Given the description of an element on the screen output the (x, y) to click on. 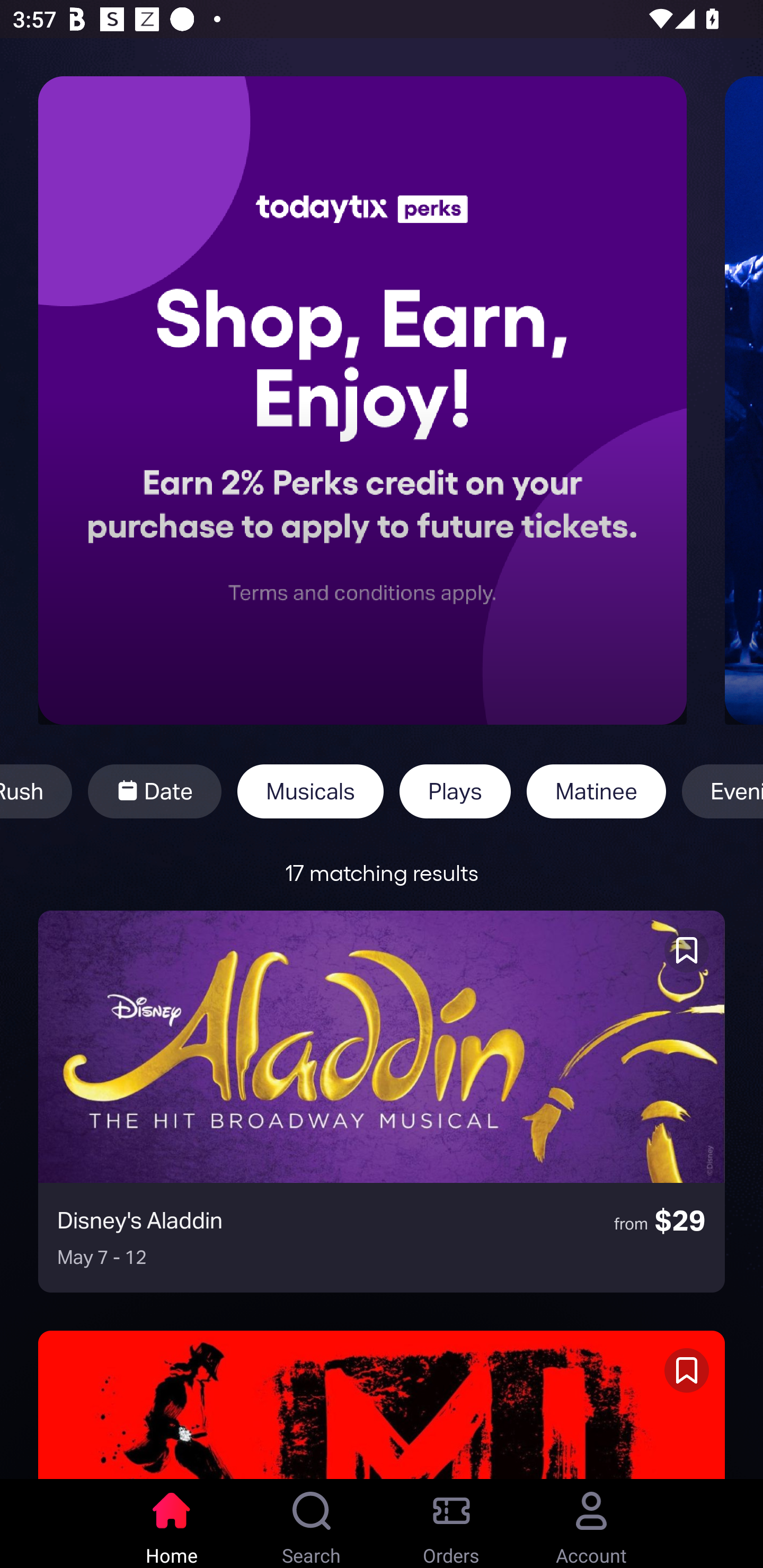
Date (154, 791)
Musicals (310, 791)
Plays (454, 791)
Matinee (596, 791)
Disney's Aladdin from $29 May 7 - 12 (381, 1101)
Search (311, 1523)
Orders (451, 1523)
Account (591, 1523)
